Given the description of an element on the screen output the (x, y) to click on. 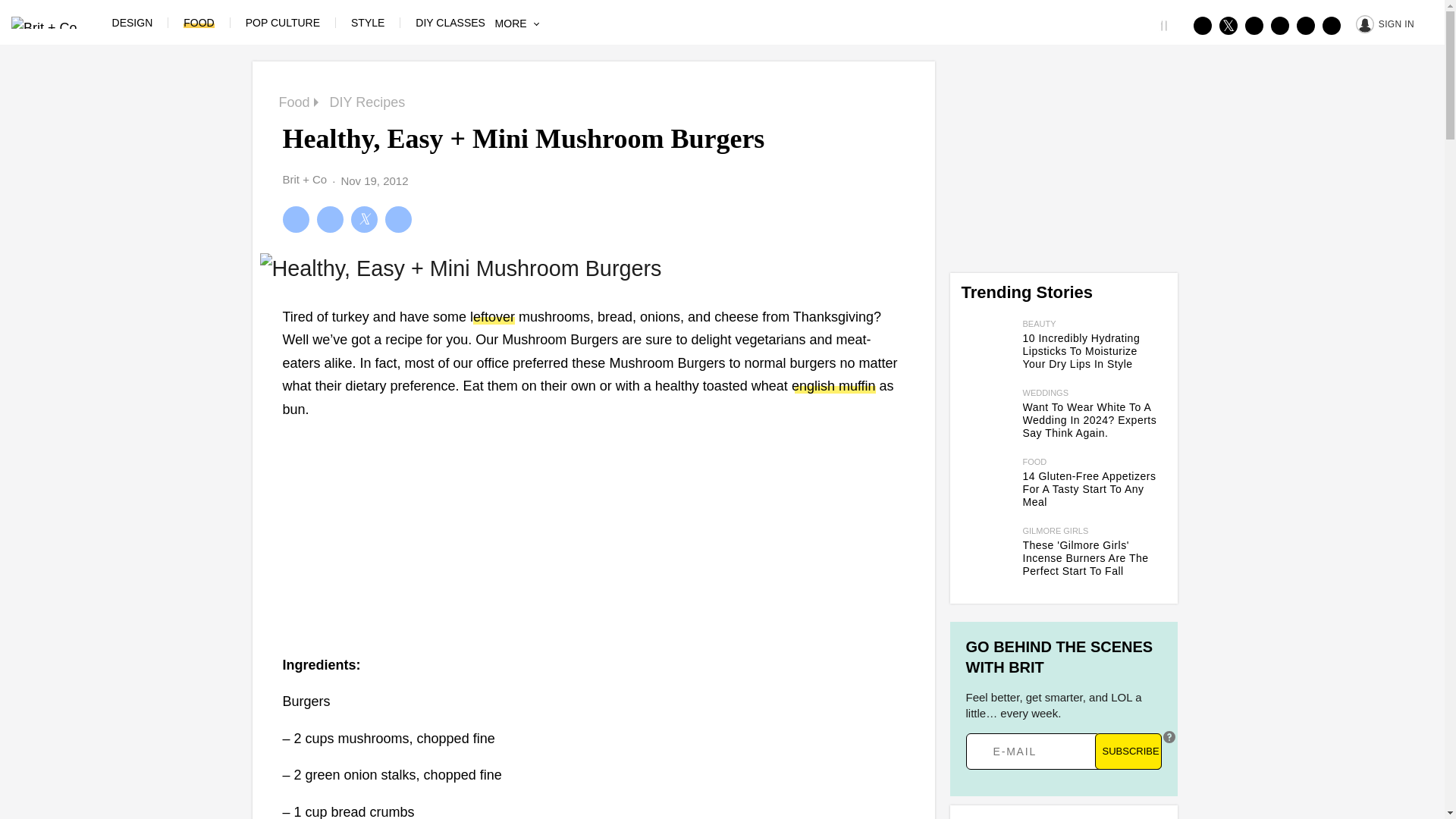
POP CULTURE (283, 22)
SIGN IN (1384, 23)
DIY CLASSES (449, 22)
FOOD (198, 22)
STYLE (367, 22)
DESIGN (132, 22)
